Given the description of an element on the screen output the (x, y) to click on. 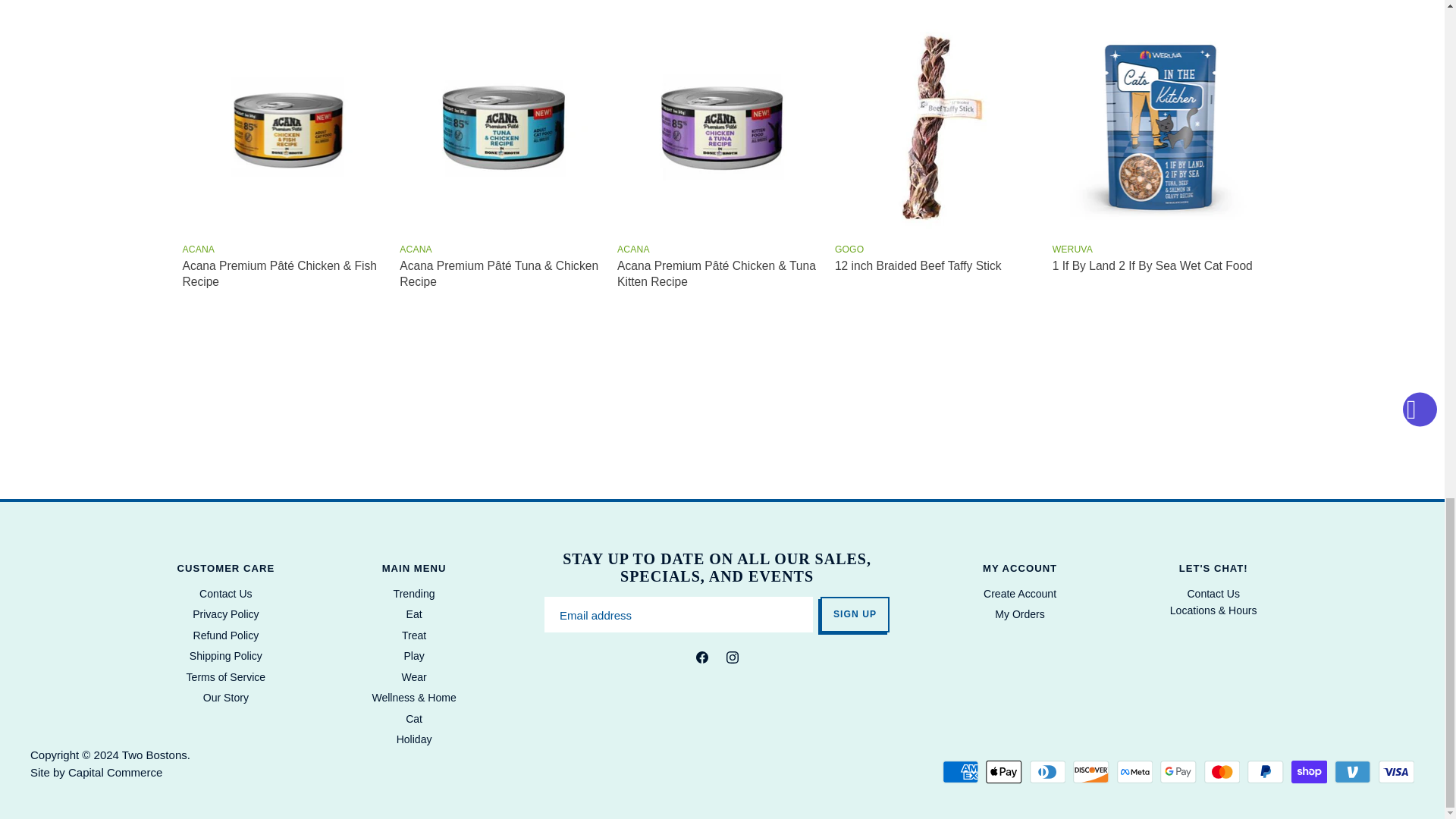
Contact Us (1212, 593)
Facebook (702, 660)
Instagram (732, 660)
